Given the description of an element on the screen output the (x, y) to click on. 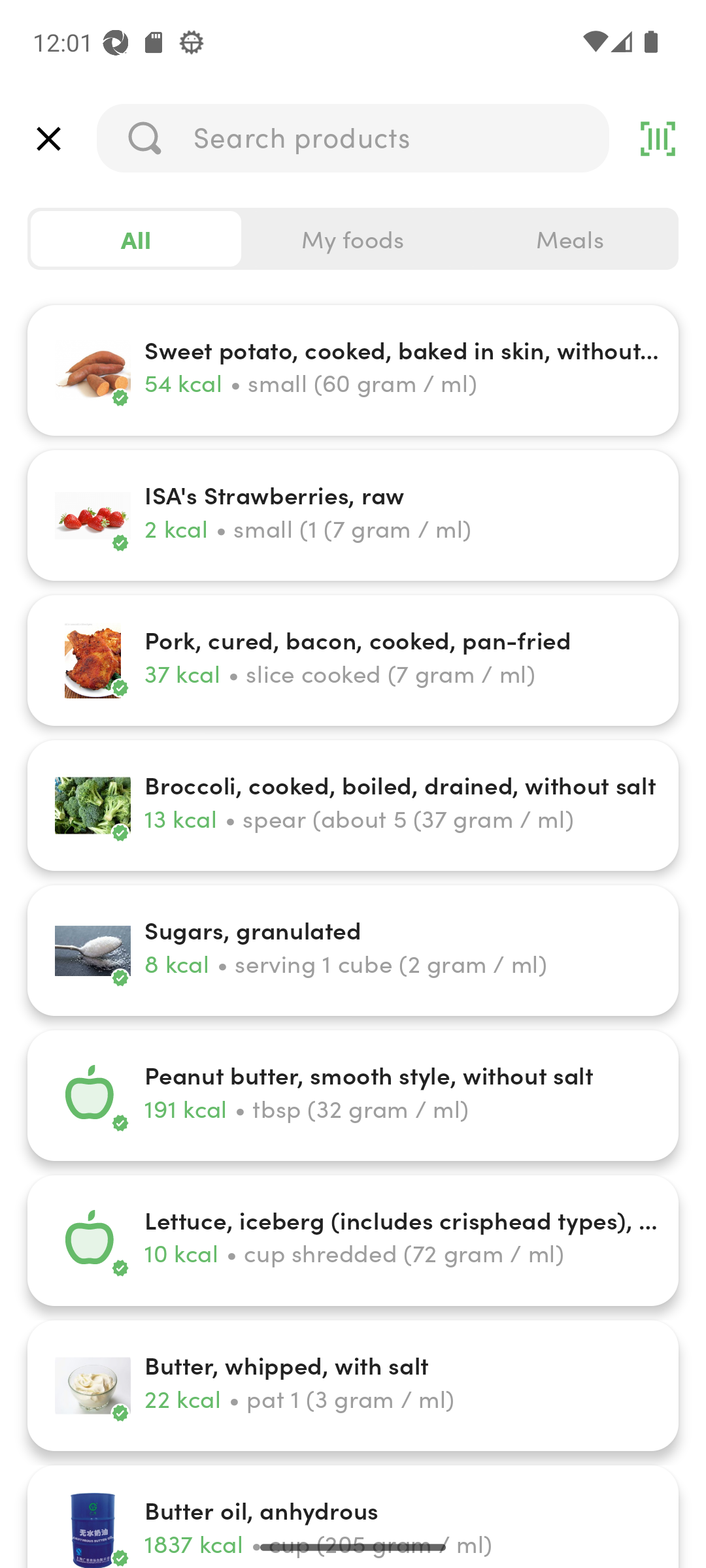
top_left_action (48, 138)
top_right_action (658, 138)
My foods (352, 238)
Meals (569, 238)
